Given the description of an element on the screen output the (x, y) to click on. 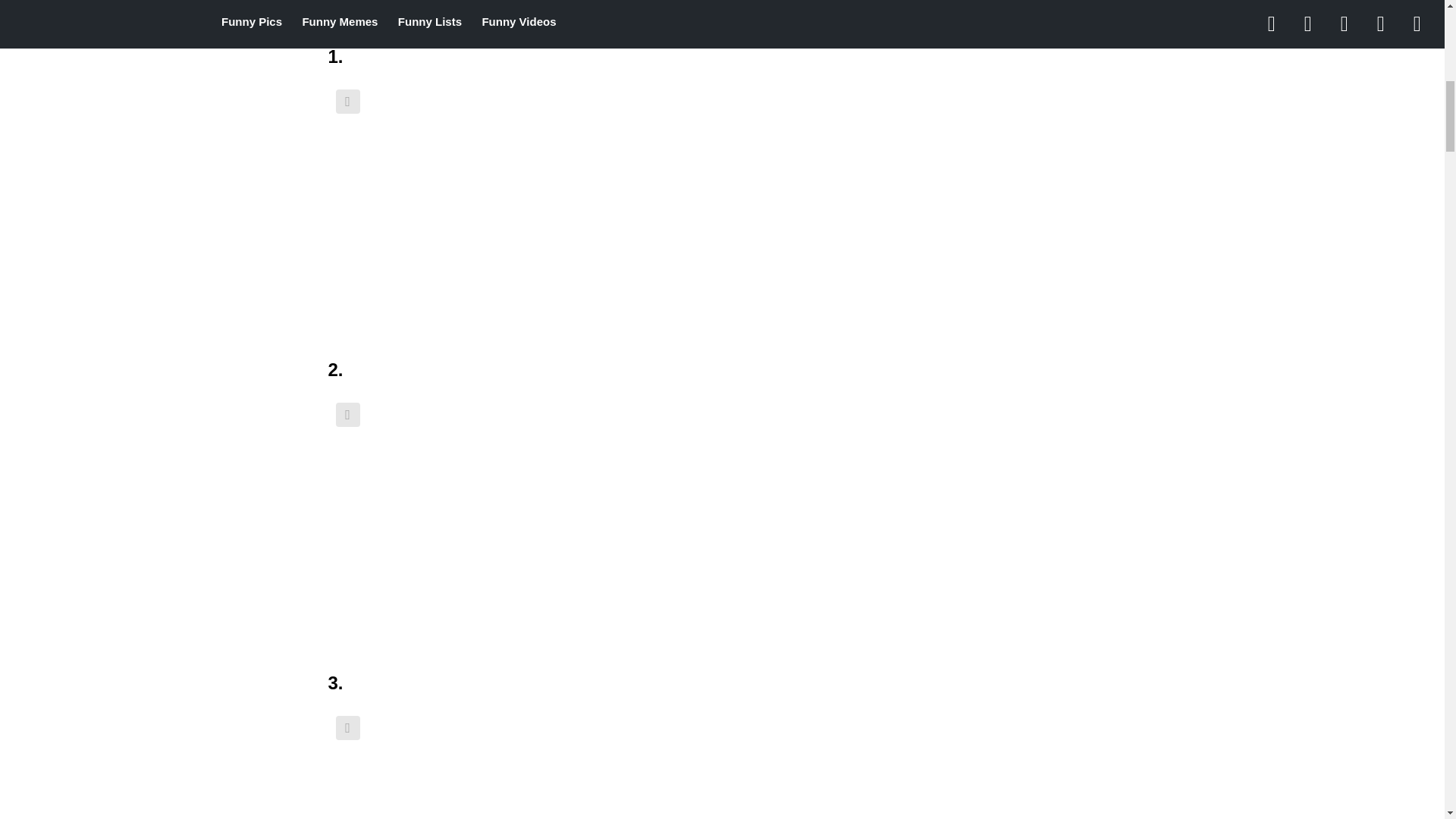
Share (346, 414)
Share (346, 727)
Share (346, 101)
